Given the description of an element on the screen output the (x, y) to click on. 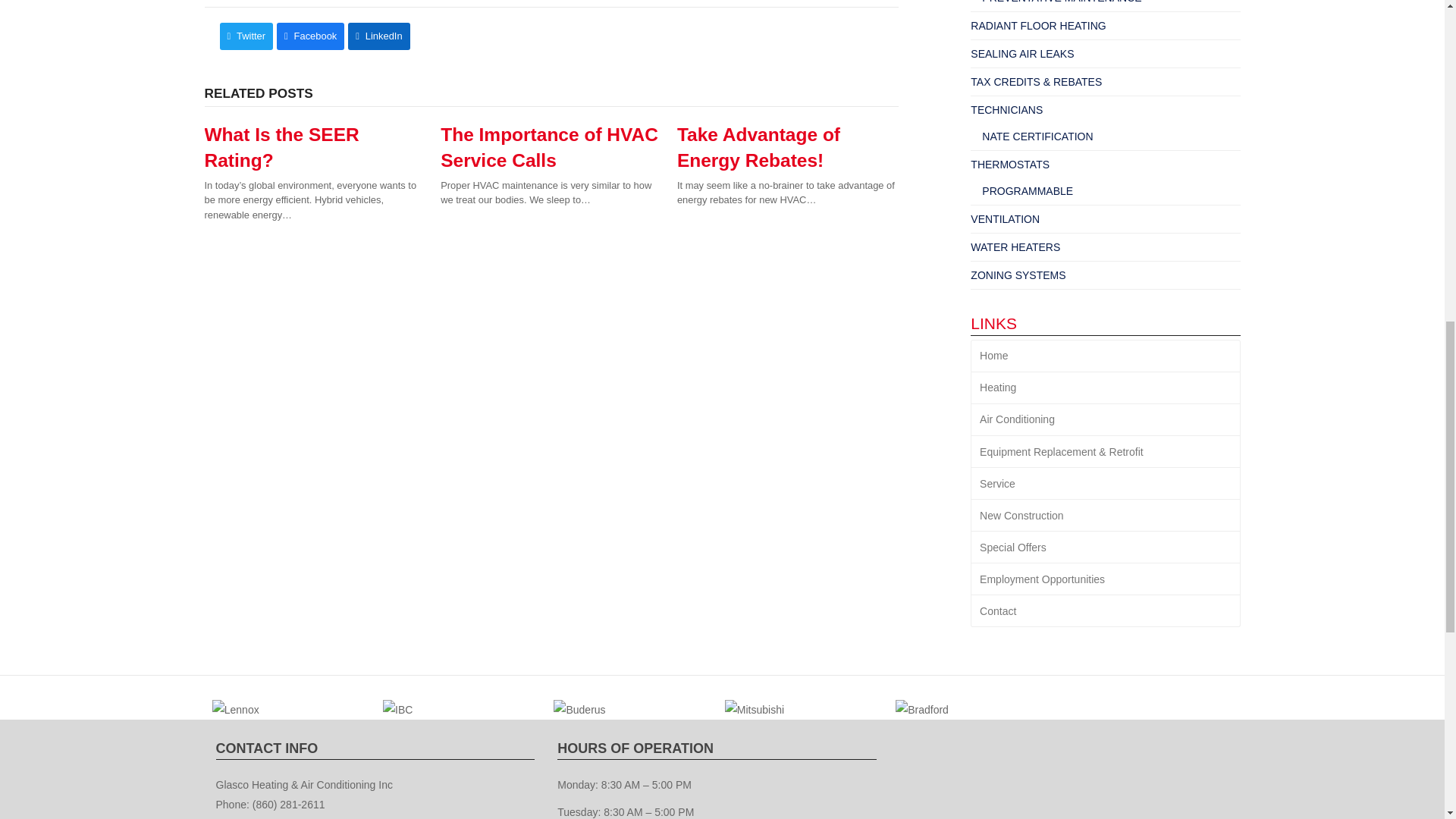
Twitter (246, 35)
Facebook (309, 35)
What Is the SEER Rating? (282, 147)
LinkedIn (378, 35)
